Given the description of an element on the screen output the (x, y) to click on. 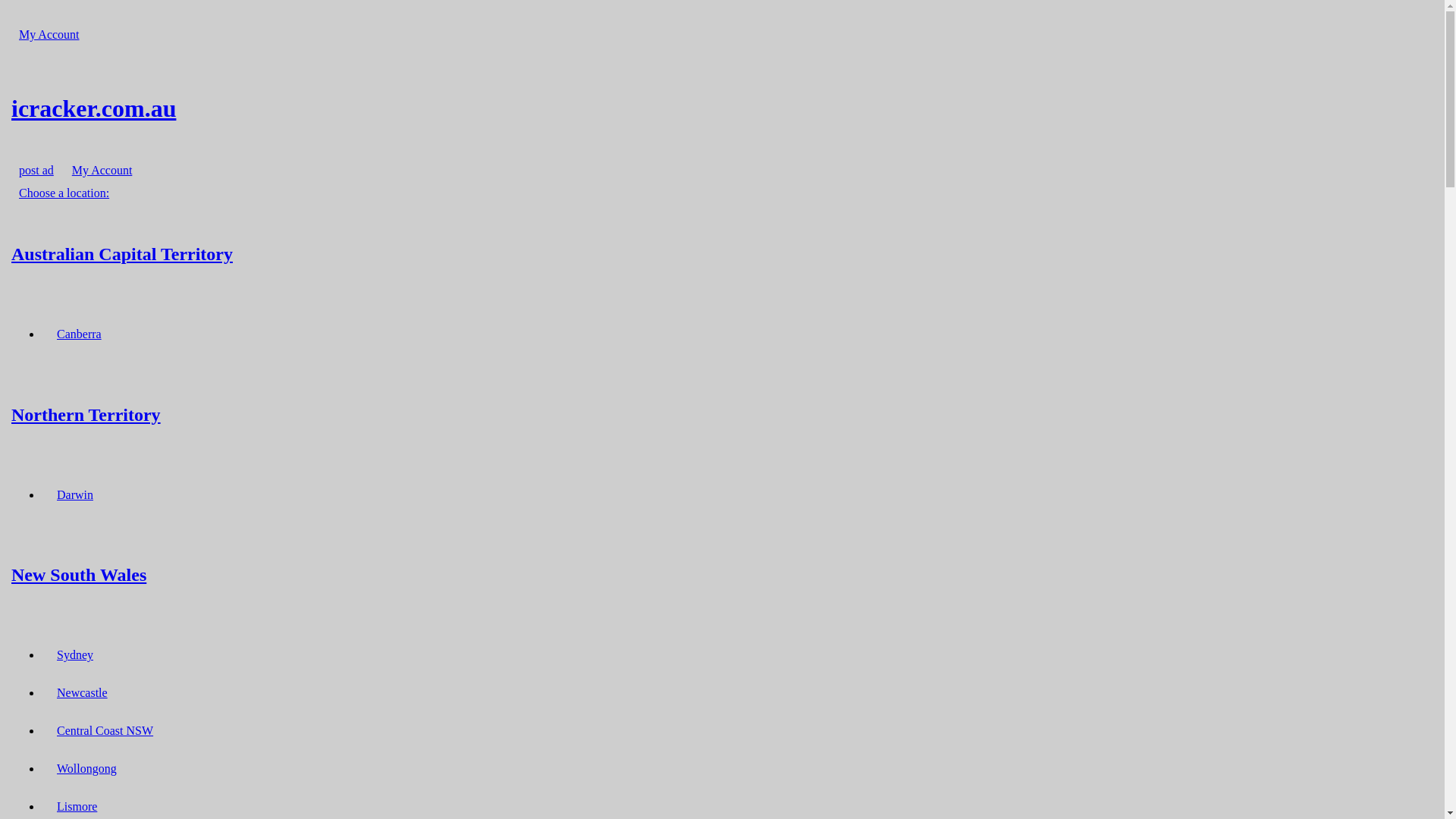
Darwin Element type: text (74, 494)
Australian Capital Territory Element type: text (722, 253)
icracker.com.au Element type: text (722, 108)
Wollongong Element type: text (86, 768)
Central Coast NSW Element type: text (104, 730)
Choose a location: Element type: text (63, 192)
post ad Element type: text (36, 170)
Canberra Element type: text (79, 334)
Newcastle Element type: text (82, 692)
New South Wales Element type: text (722, 575)
Sydney Element type: text (74, 654)
My Account Element type: text (49, 34)
My Account Element type: text (102, 170)
Northern Territory Element type: text (722, 414)
